Given the description of an element on the screen output the (x, y) to click on. 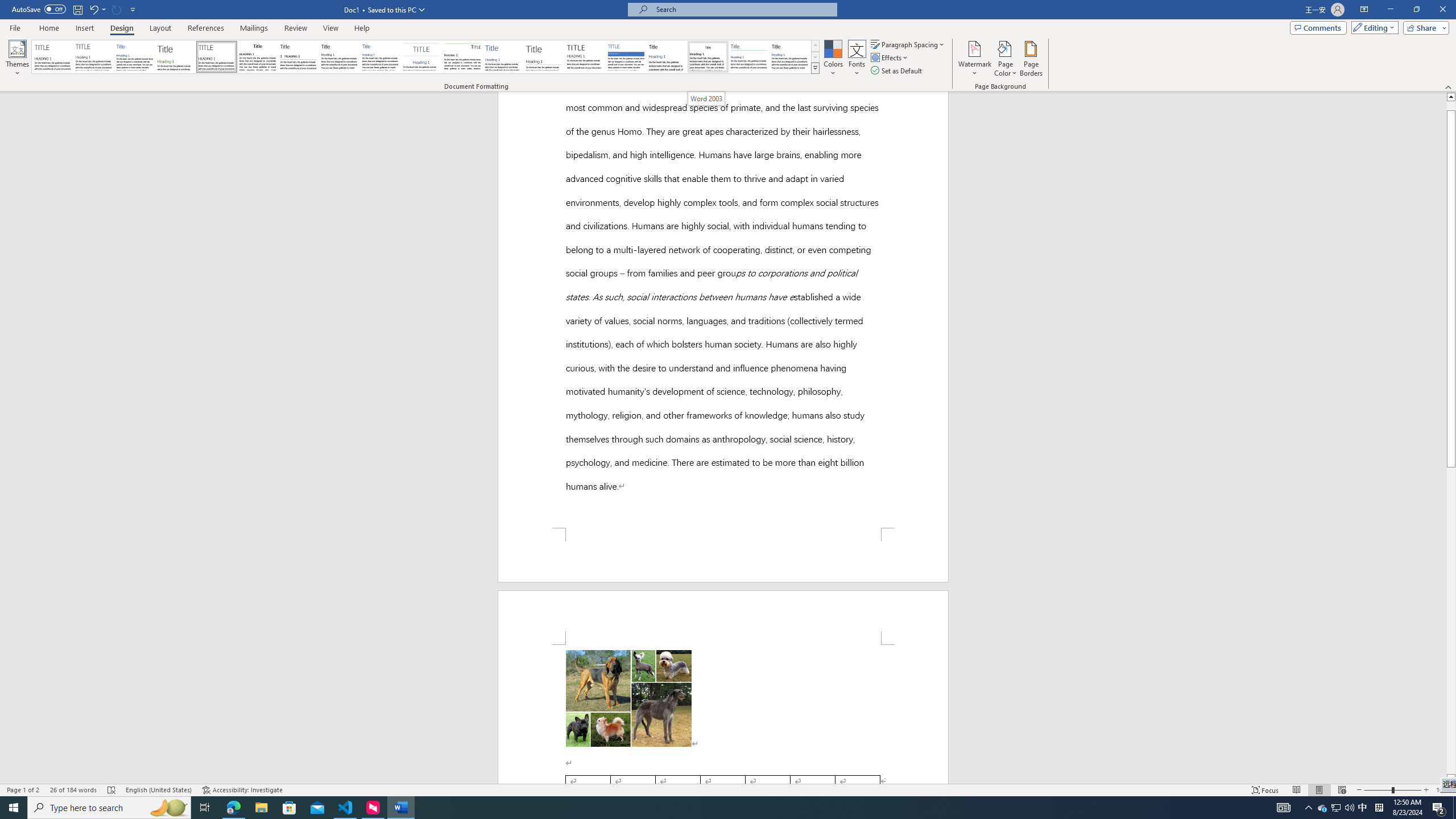
Page Number Page 1 of 2 (22, 790)
Line down (1450, 778)
Basic (Elegant) (93, 56)
Spelling and Grammar Check Errors (111, 790)
Set as Default (897, 69)
